Given the description of an element on the screen output the (x, y) to click on. 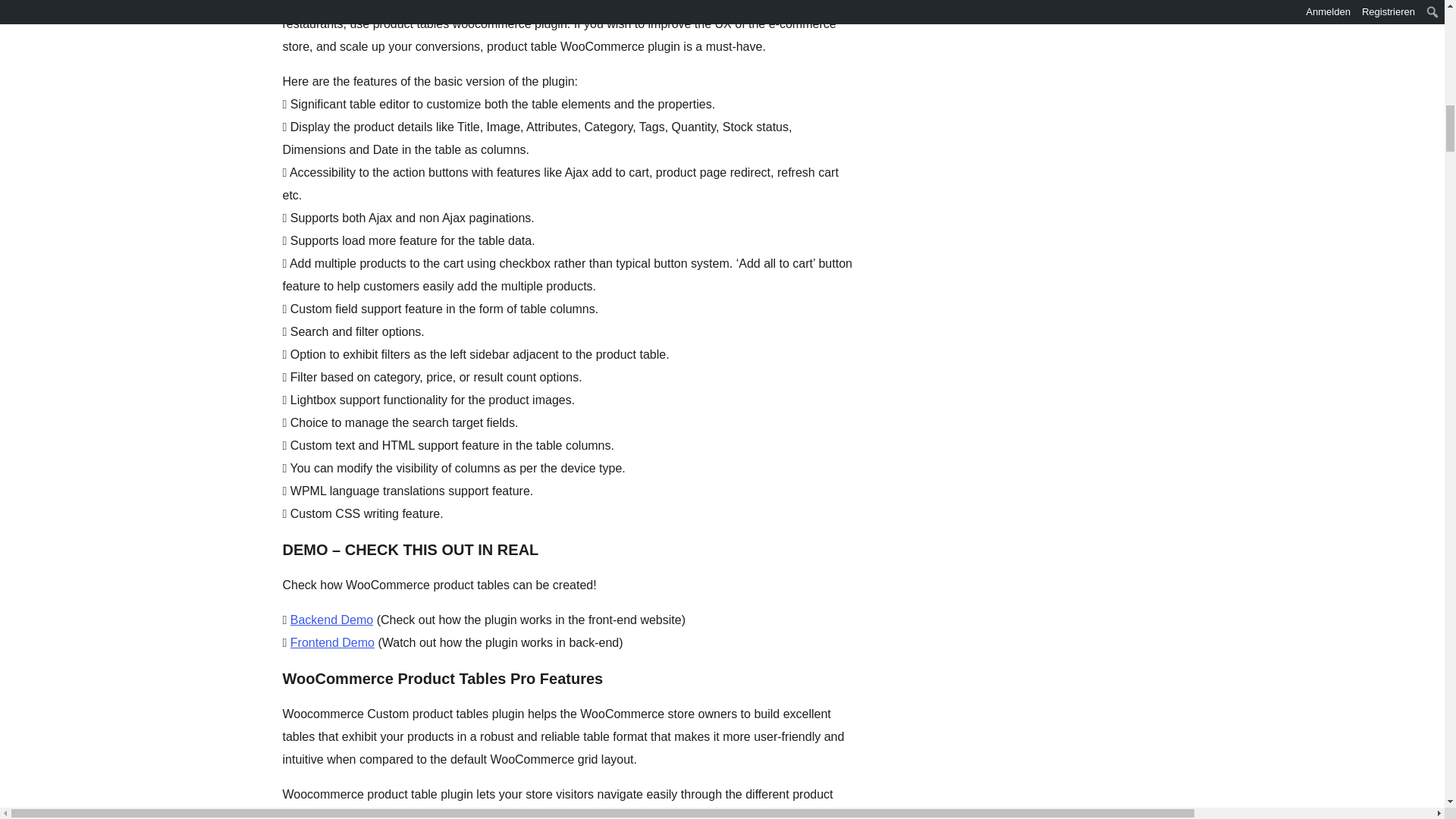
Backend Demo (330, 619)
Frontend Demo (331, 642)
